Given the description of an element on the screen output the (x, y) to click on. 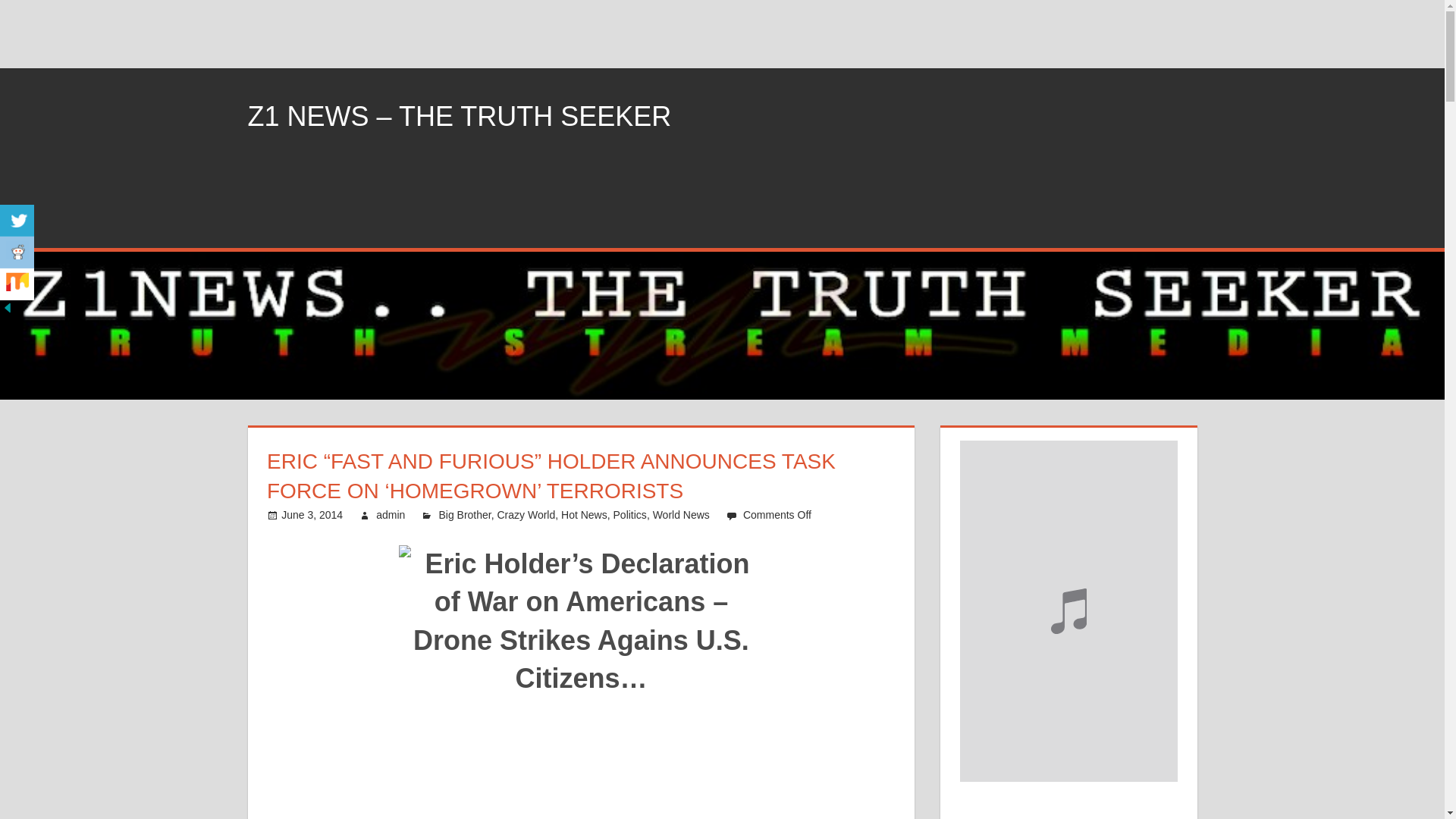
admin (389, 514)
June 3, 2014 (311, 514)
Big Brother (464, 514)
World News (681, 514)
Crazy World (526, 514)
7:45 pm (311, 514)
View all posts by admin (389, 514)
Hot News (583, 514)
Politics (629, 514)
